Given the description of an element on the screen output the (x, y) to click on. 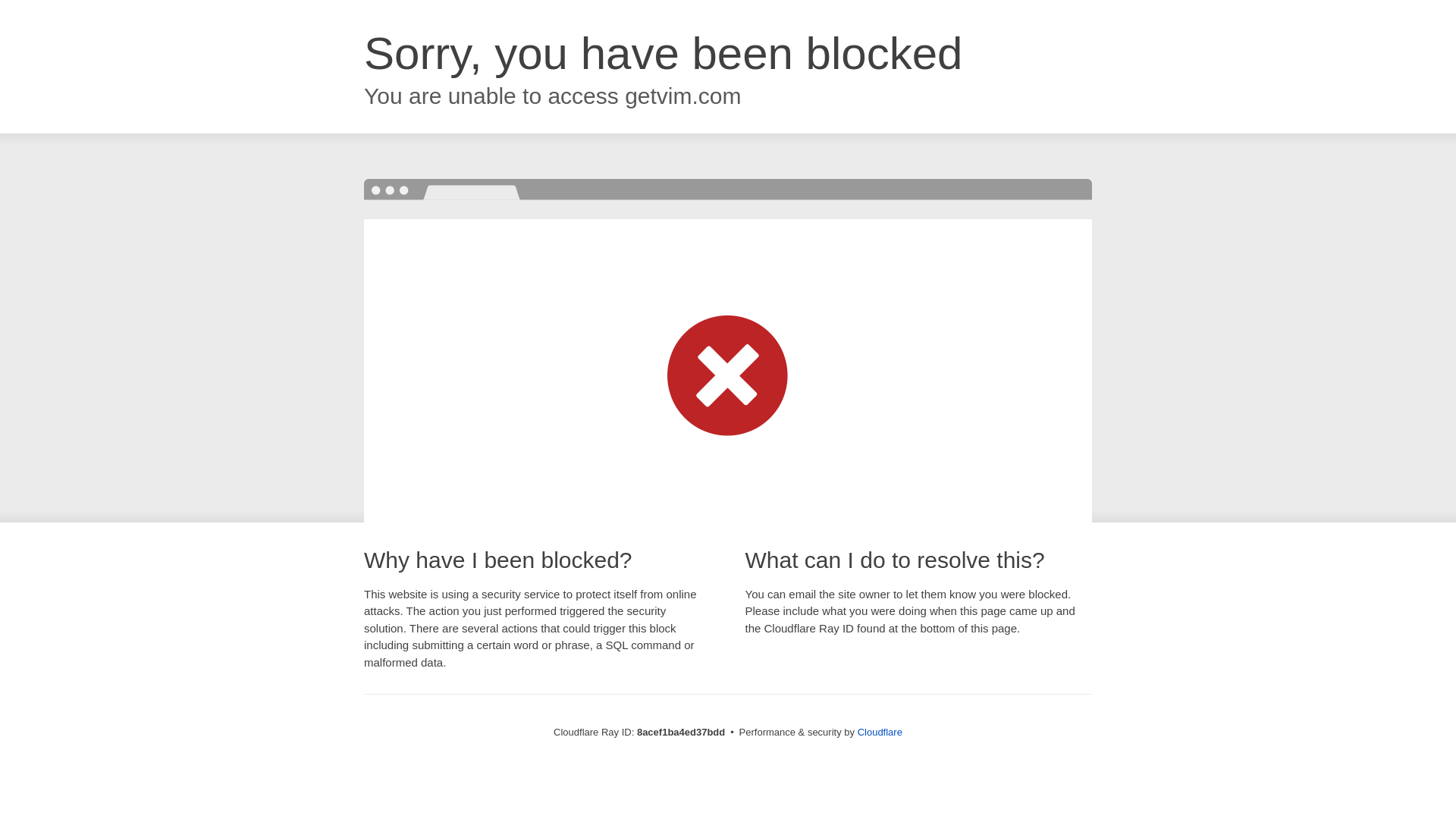
Cloudflare (879, 731)
